Given the description of an element on the screen output the (x, y) to click on. 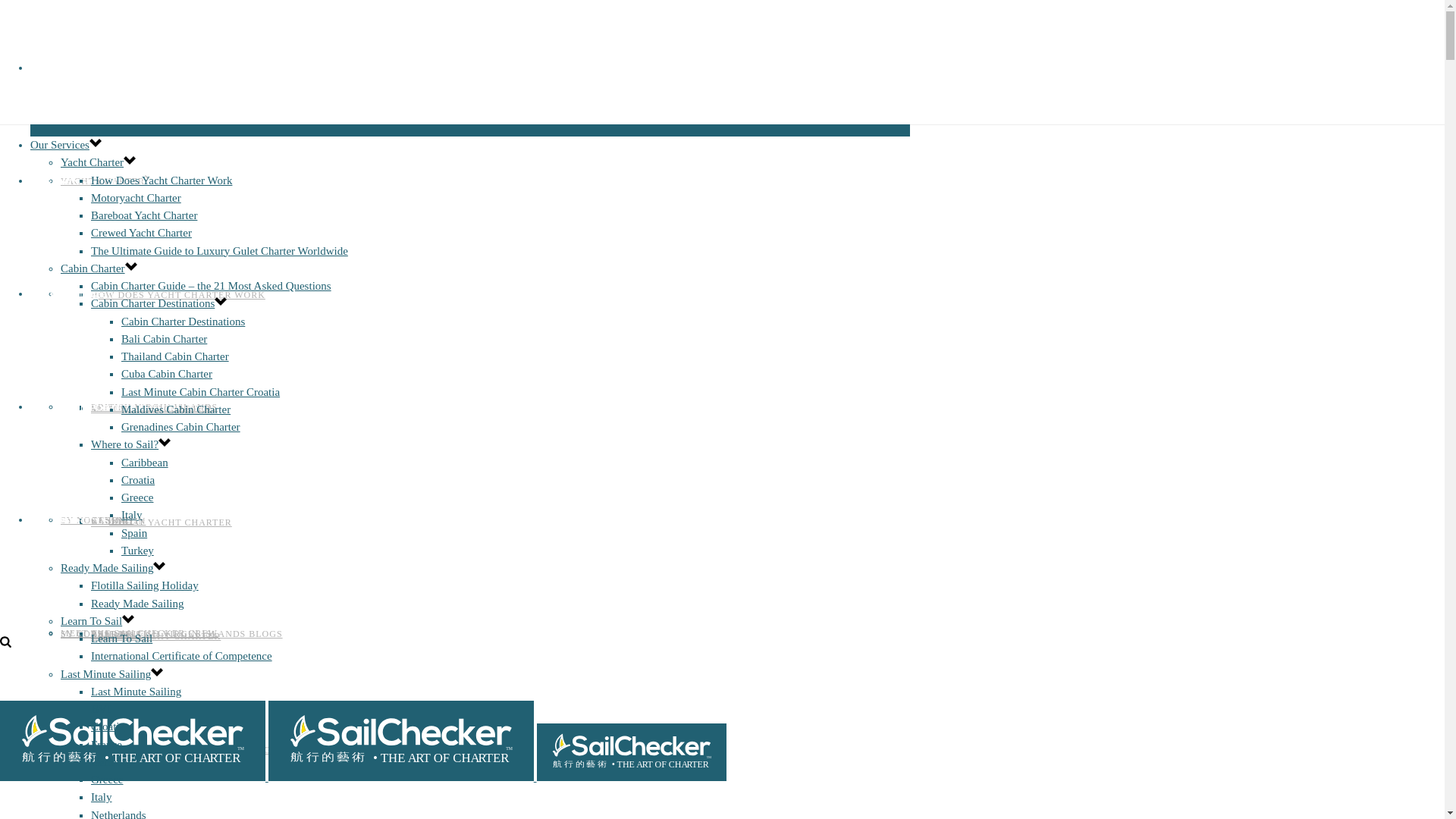
Croatia (106, 726)
CREWED YACHT CHARTER (155, 635)
MOTORYACHT CHARTER (150, 408)
BAHAMAS (115, 634)
Grenadines Cabin Charter (180, 426)
Ready Made Sailing (106, 567)
Caribbean (144, 462)
THE ULTIMATE GUIDE TO LUXURY GULET CHARTER WORLDWIDE (251, 749)
Bali Cabin Charter (163, 338)
ST MARTIN (117, 520)
OUR SERVICES (81, 68)
Motoryacht Charter (135, 197)
BEST BRITISH VIRGIN ISLANDS BLOGS (186, 633)
YACHT CHARTER (102, 181)
Bareboat Yacht Charter (143, 215)
